Given the description of an element on the screen output the (x, y) to click on. 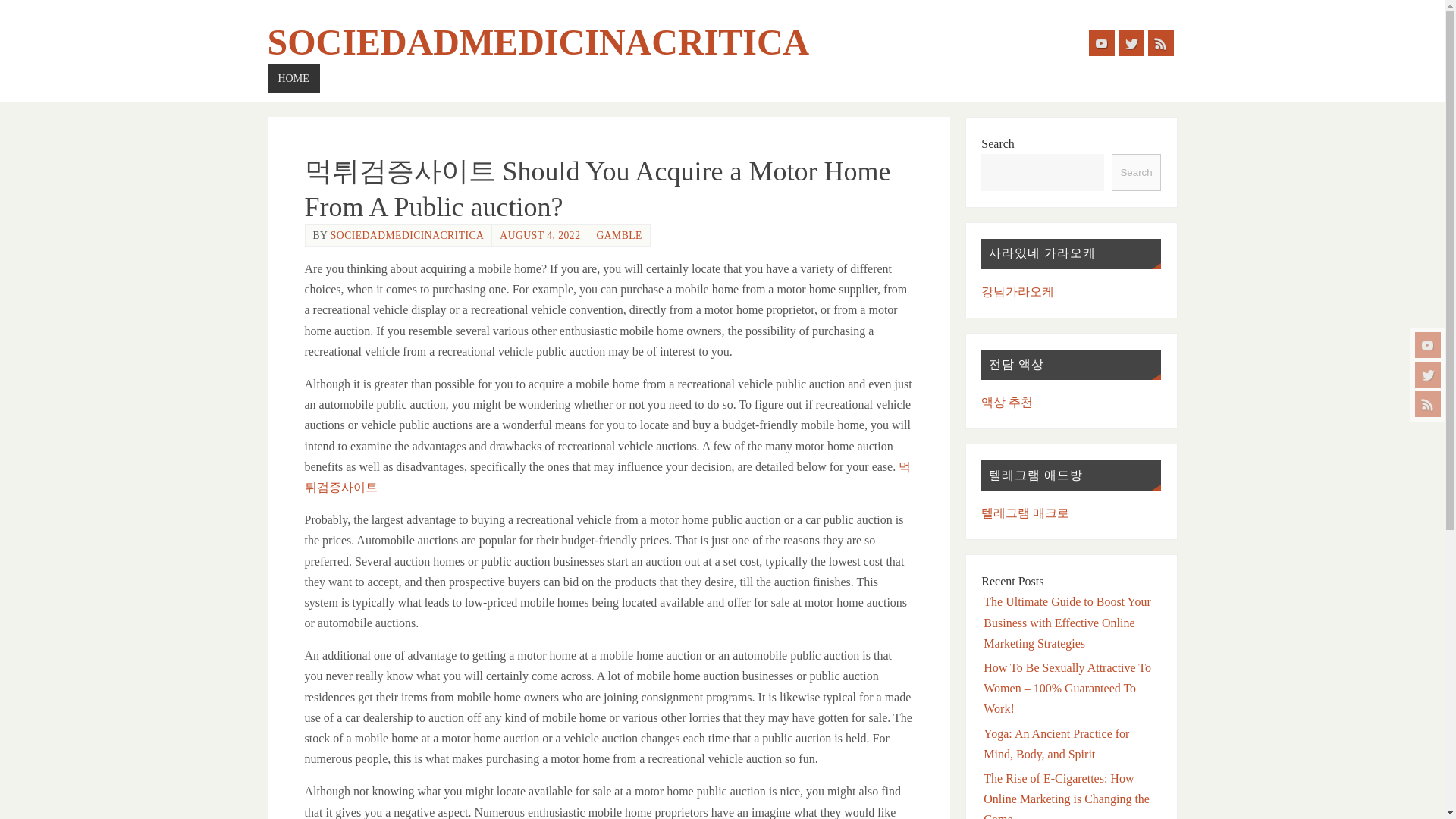
Twitter (1130, 43)
RSS (1428, 403)
Yoga: An Ancient Practice for Mind, Body, and Spirit (1056, 743)
SOCIEDADMEDICINACRITICA (407, 235)
Search (1136, 171)
HOME (292, 78)
sociedadmedicinacritica (537, 42)
RSS (1160, 43)
GAMBLE (618, 235)
Twitter (1428, 374)
View all posts by sociedadmedicinacritica (407, 235)
YouTube (1102, 43)
AUGUST 4, 2022 (539, 235)
SOCIEDADMEDICINACRITICA (537, 42)
